Given the description of an element on the screen output the (x, y) to click on. 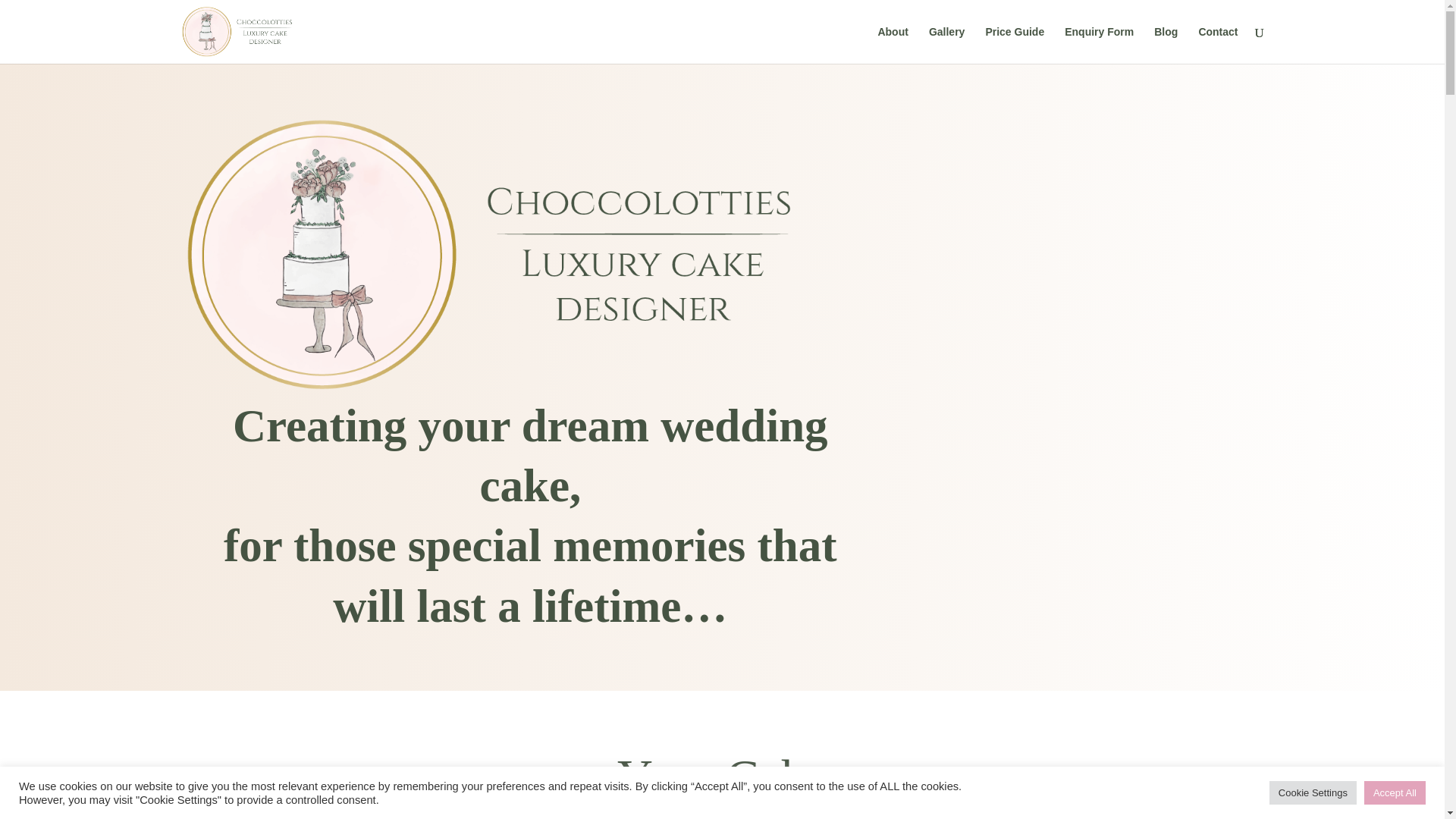
Price Guide (1014, 44)
Enquiry Form (1099, 44)
Contact (1217, 44)
Gallery (945, 44)
